Given the description of an element on the screen output the (x, y) to click on. 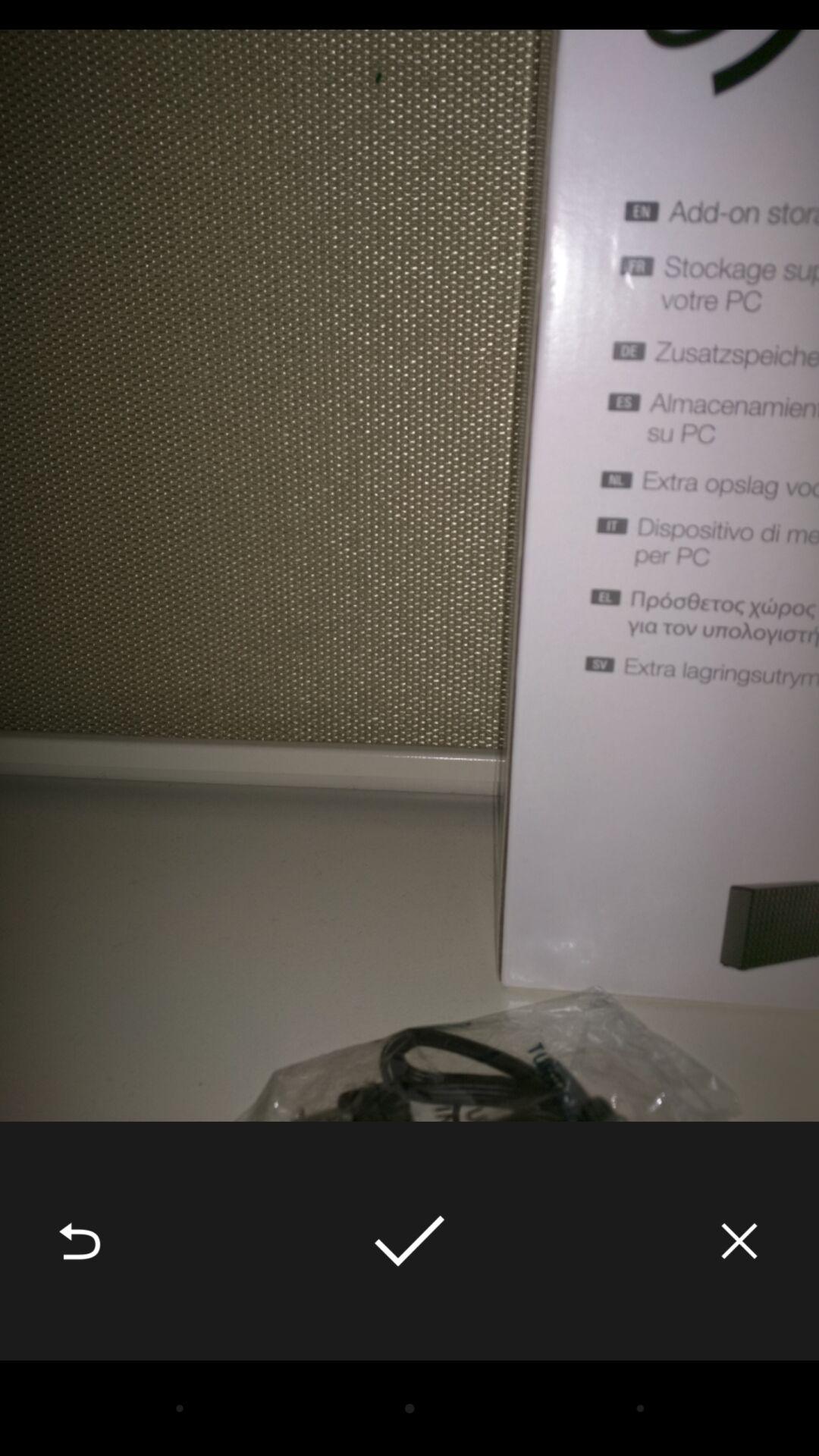
click icon at the bottom left corner (79, 1240)
